Given the description of an element on the screen output the (x, y) to click on. 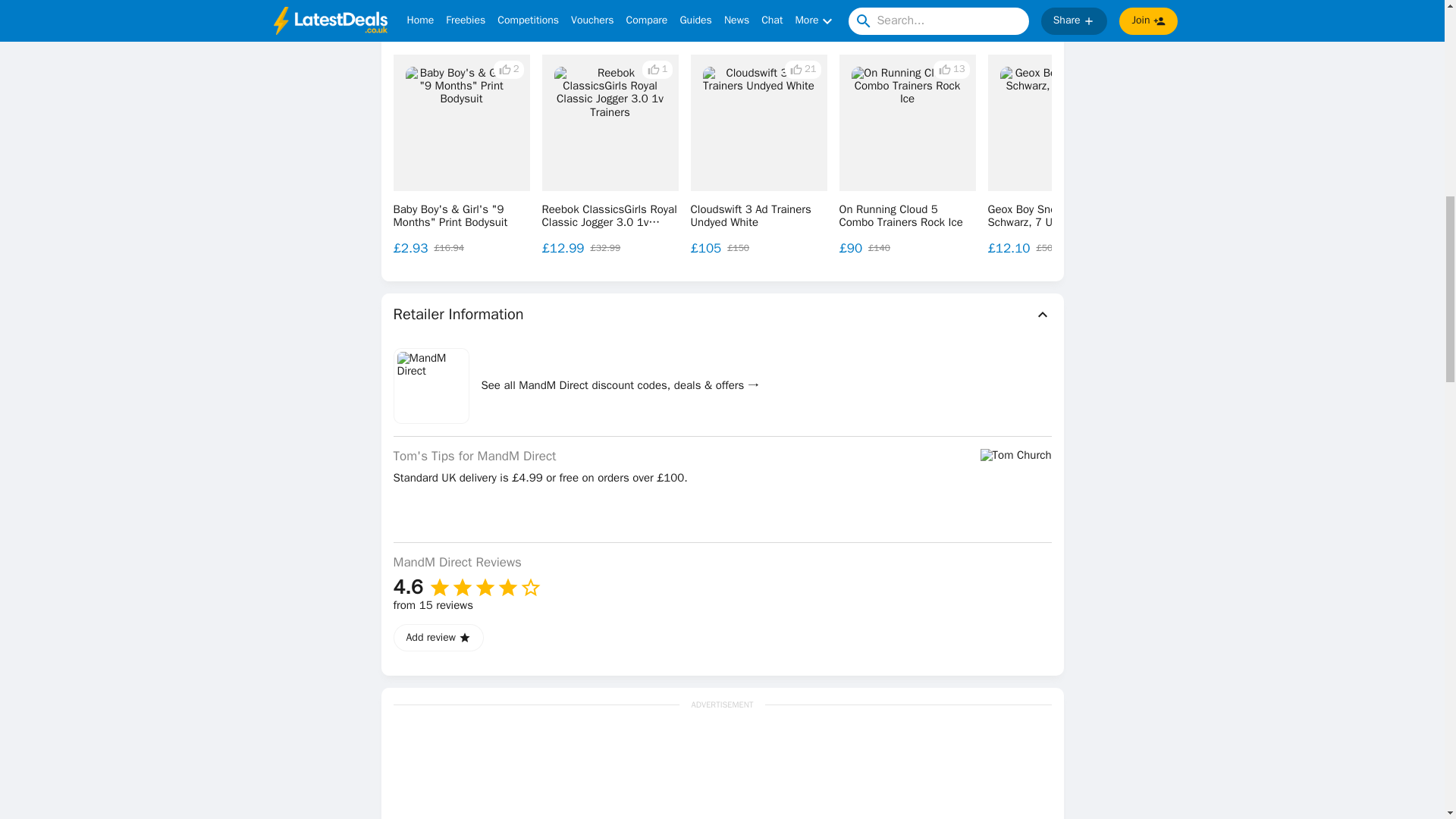
Top Offers (722, 33)
See more offers (1329, 154)
